Given the description of an element on the screen output the (x, y) to click on. 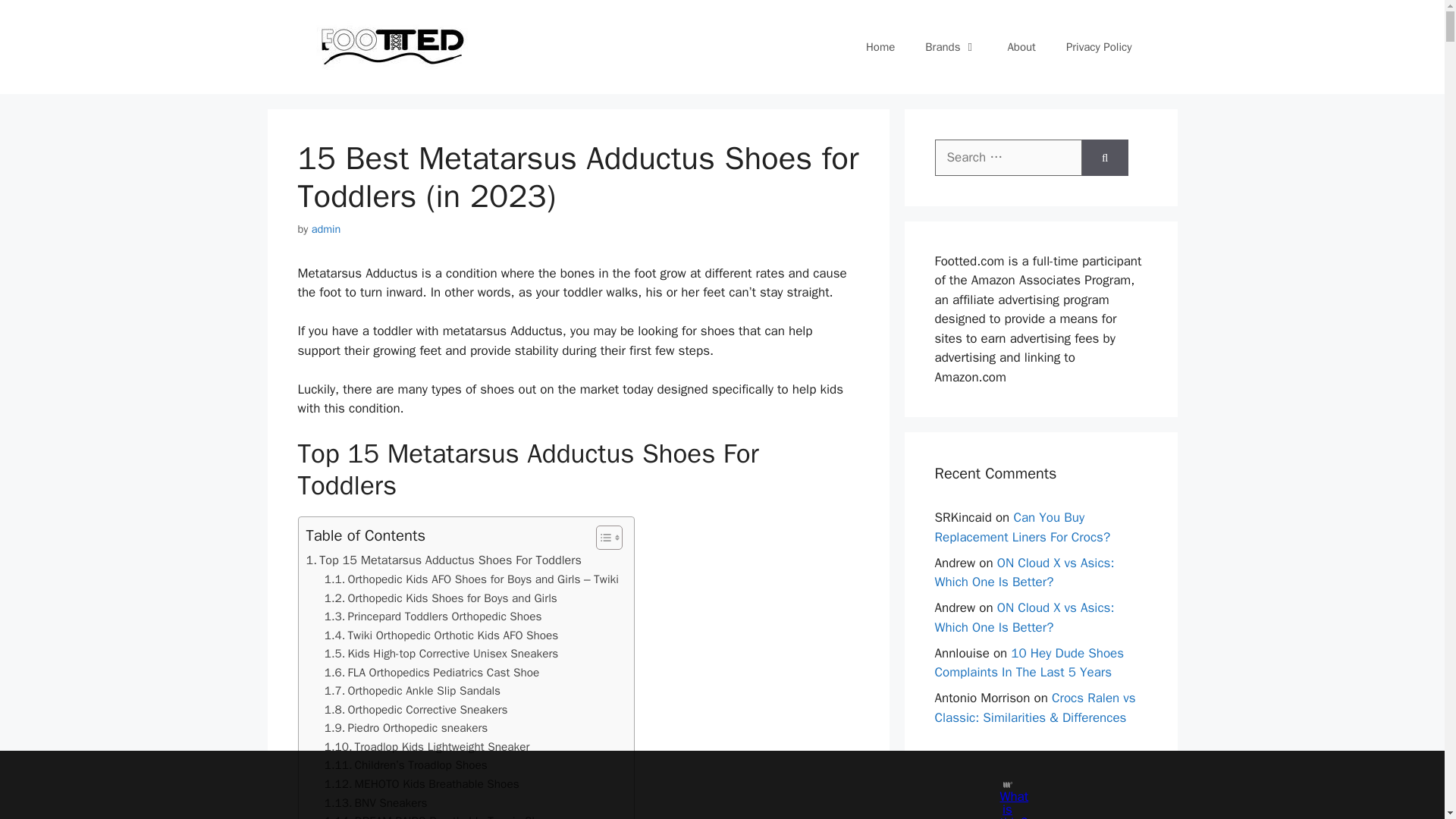
FLA Orthopedics Pediatrics Cast Shoe (432, 672)
Troadlop Kids Lightweight Sneaker (426, 746)
Twiki Orthopedic Orthotic Kids AFO Shoes (441, 635)
BNV Sneakers (376, 803)
Privacy Policy (1099, 46)
About (1020, 46)
FLA Orthopedics Pediatrics Cast Shoe (432, 672)
Twiki Orthopedic Orthotic Kids AFO Shoes (441, 635)
MEHOTO Kids Breathable Shoes (421, 783)
Orthopedic Corrective Sneakers (416, 710)
Princepard Toddlers Orthopedic Shoes (432, 616)
Brands (950, 46)
Orthopedic Corrective Sneakers (416, 710)
DREAM PAIRS Breathable Tennis Shoes (440, 815)
Princepard Toddlers Orthopedic Shoes (432, 616)
